Given the description of an element on the screen output the (x, y) to click on. 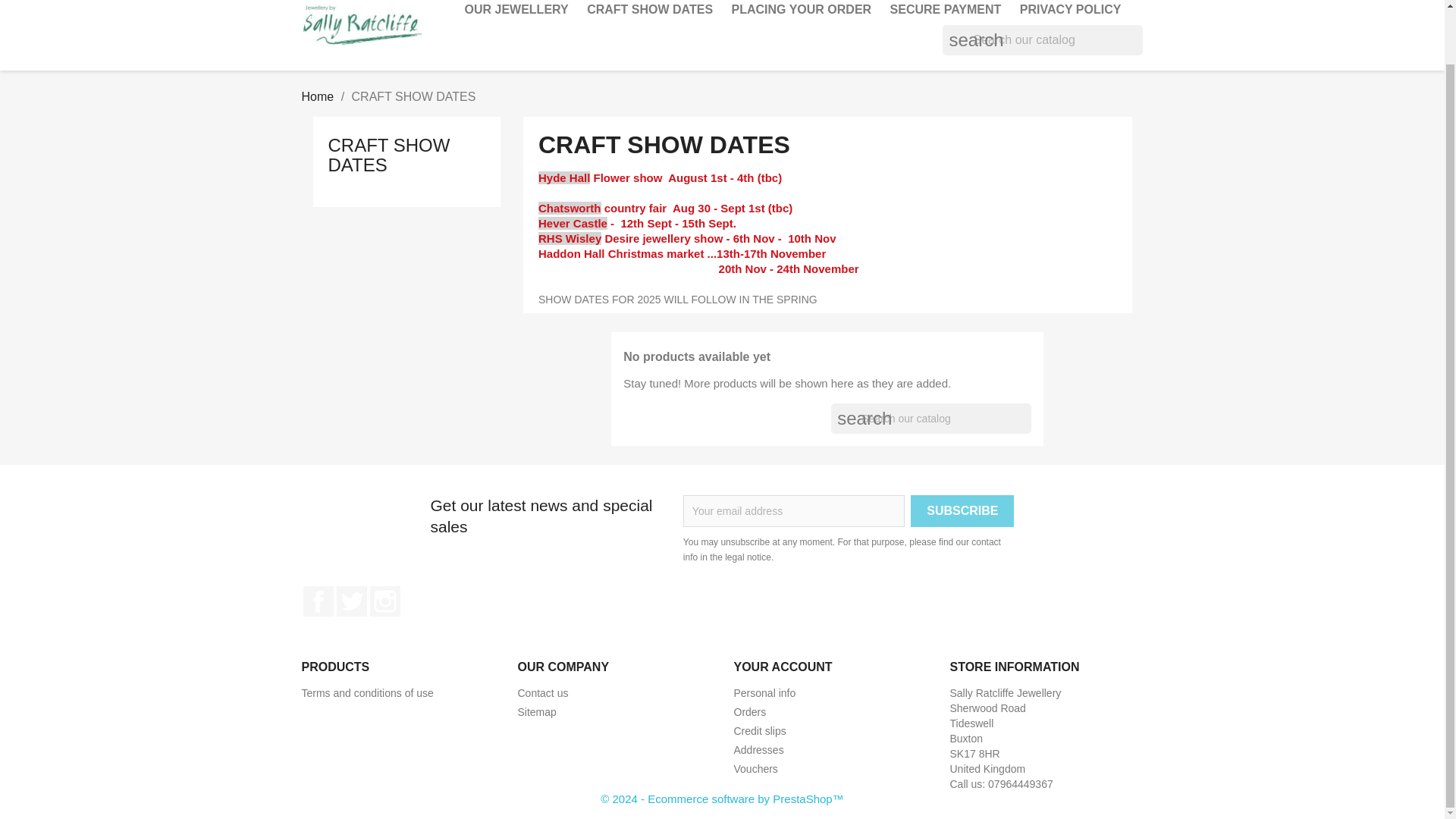
Lost ? Find what your are looking for (536, 711)
Personal info (764, 693)
CRAFT SHOW DATES (388, 155)
Addresses (758, 749)
Addresses (758, 749)
Terms and conditions of use (367, 693)
Personal info (764, 693)
Instagram (384, 601)
YOUR ACCOUNT (782, 666)
PRIVACY POLICY (1070, 12)
Twitter (351, 601)
Subscribe (962, 511)
SECURE PAYMENT (945, 12)
Credit slips (759, 730)
Sitemap (536, 711)
